Given the description of an element on the screen output the (x, y) to click on. 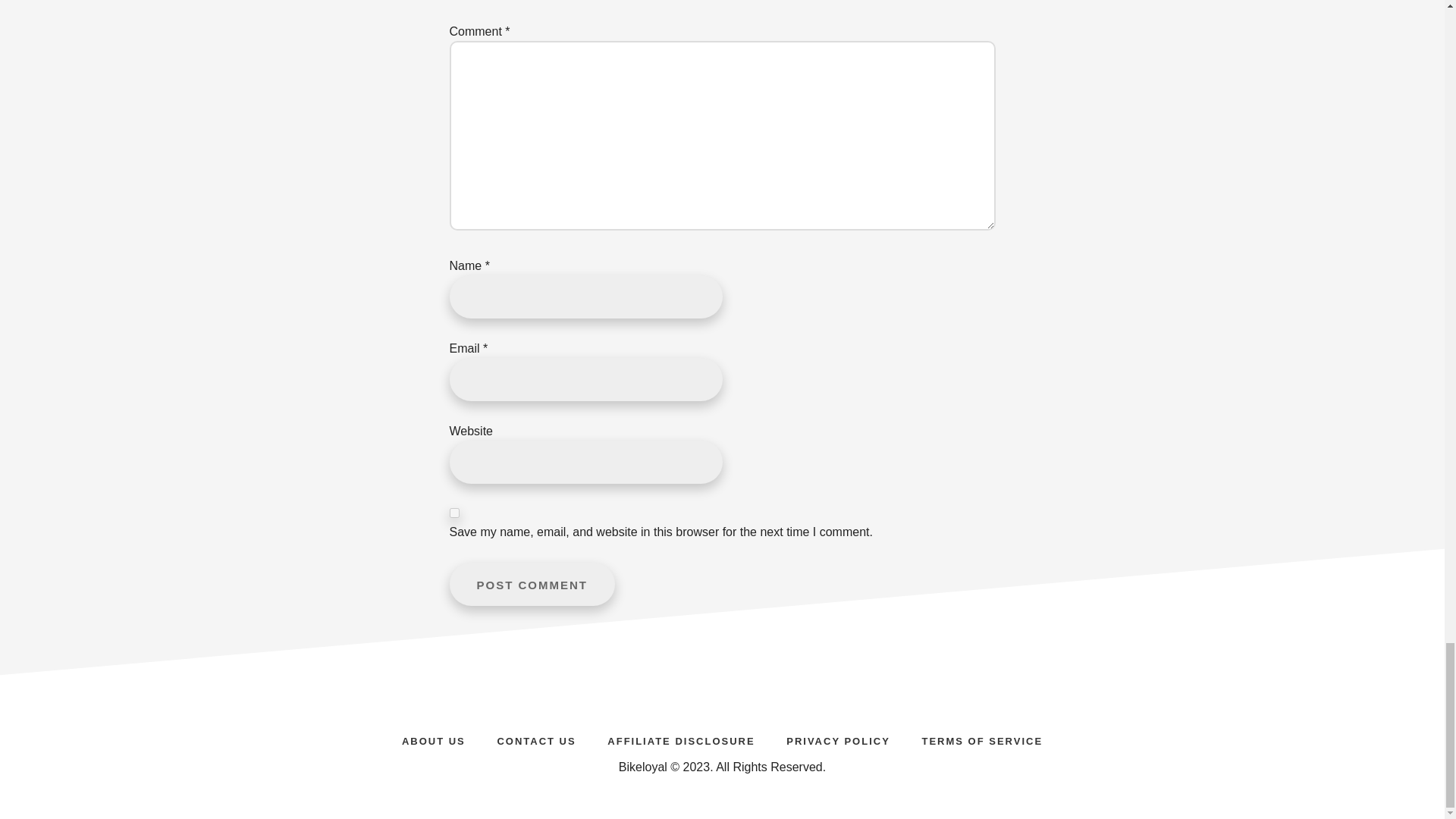
yes (453, 512)
CONTACT US (536, 739)
Post Comment (531, 584)
Post Comment (531, 584)
AFFILIATE DISCLOSURE (681, 739)
TERMS OF SERVICE (982, 739)
ABOUT US (433, 739)
PRIVACY POLICY (838, 739)
